Given the description of an element on the screen output the (x, y) to click on. 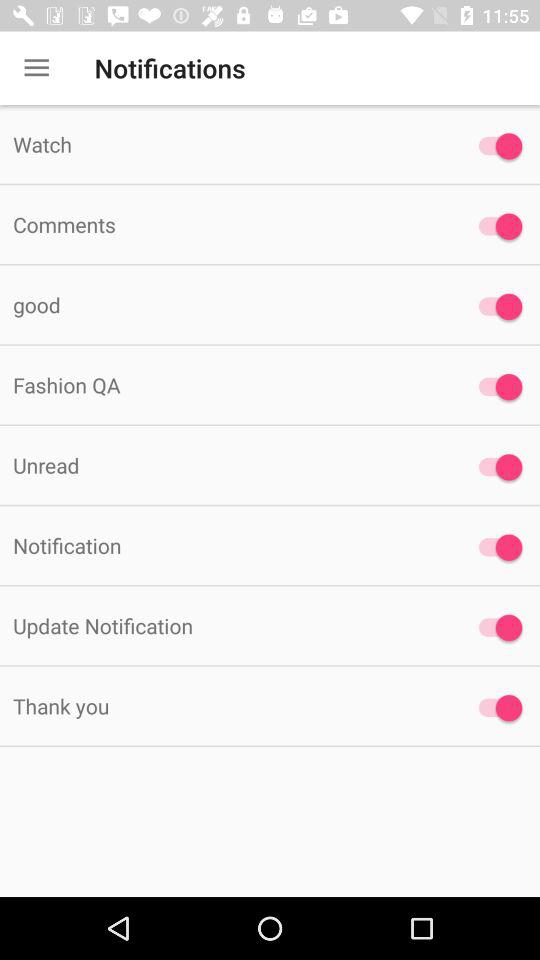
turn comments on/off (495, 226)
